Given the description of an element on the screen output the (x, y) to click on. 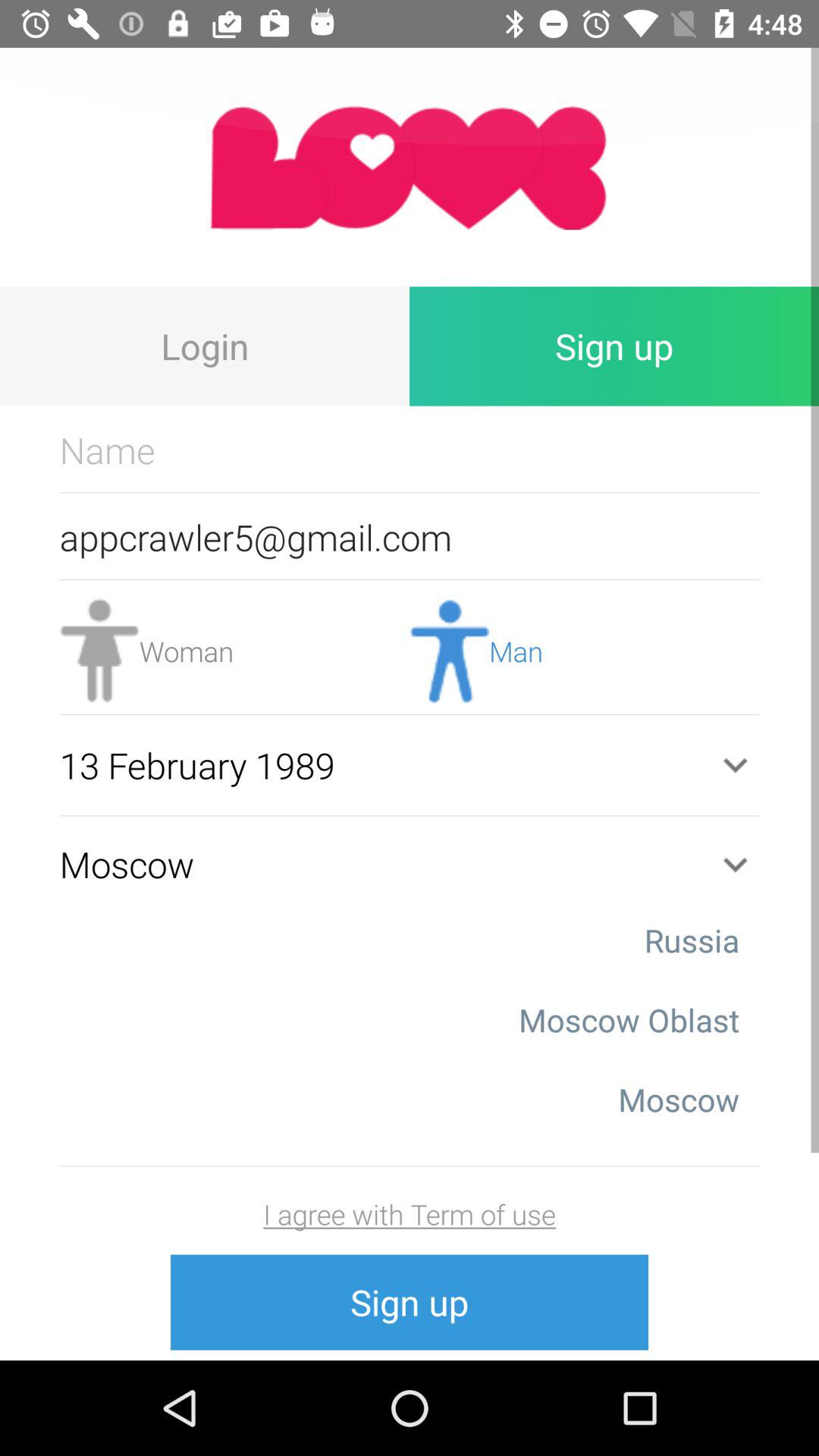
enter name text box (409, 449)
